Given the description of an element on the screen output the (x, y) to click on. 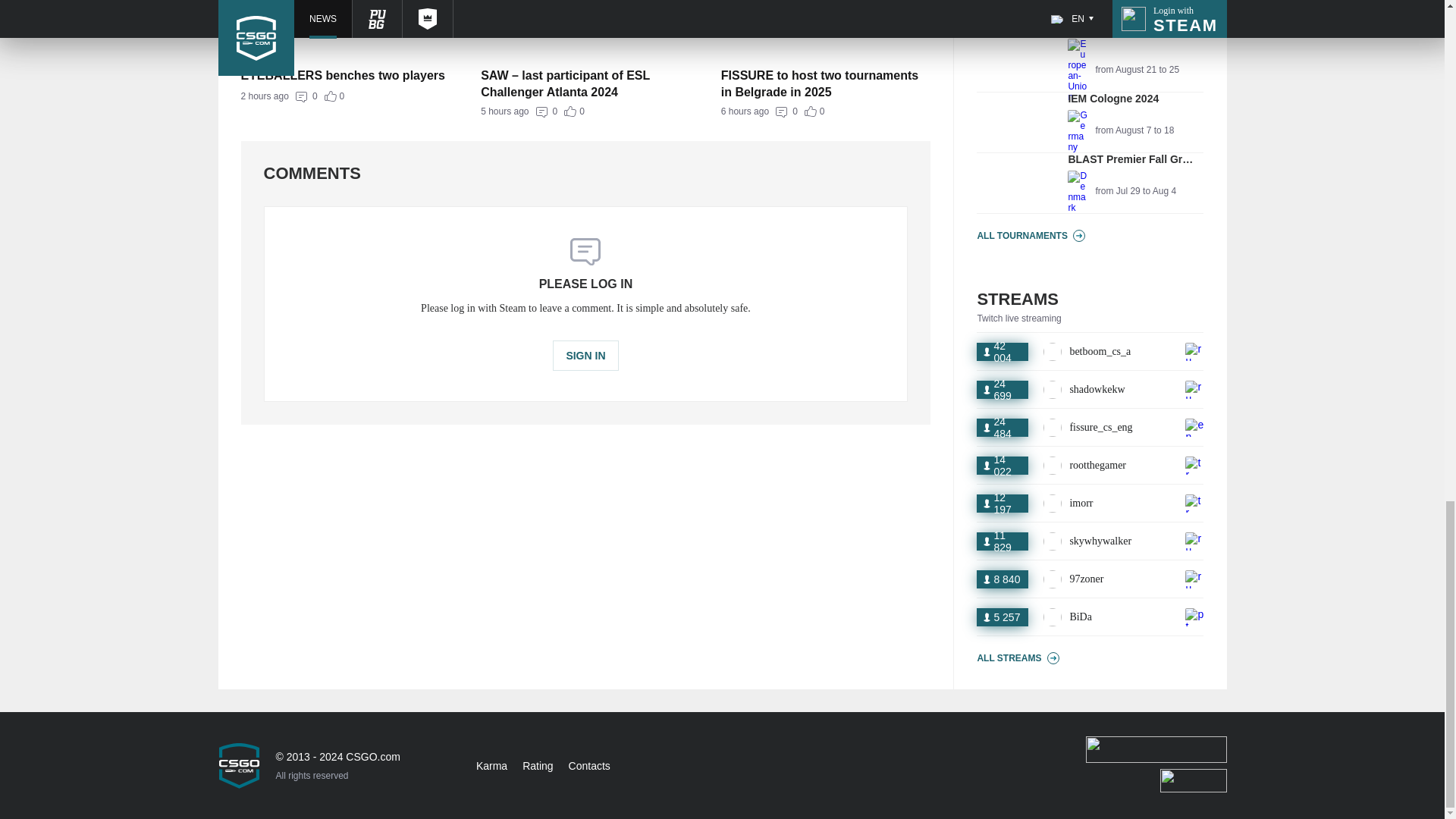
EYEBALLERS benches two players (585, 111)
SIGN IN (1090, 122)
FISSURE to host two tournaments in Belgrade in 2025 (346, 75)
